Given the description of an element on the screen output the (x, y) to click on. 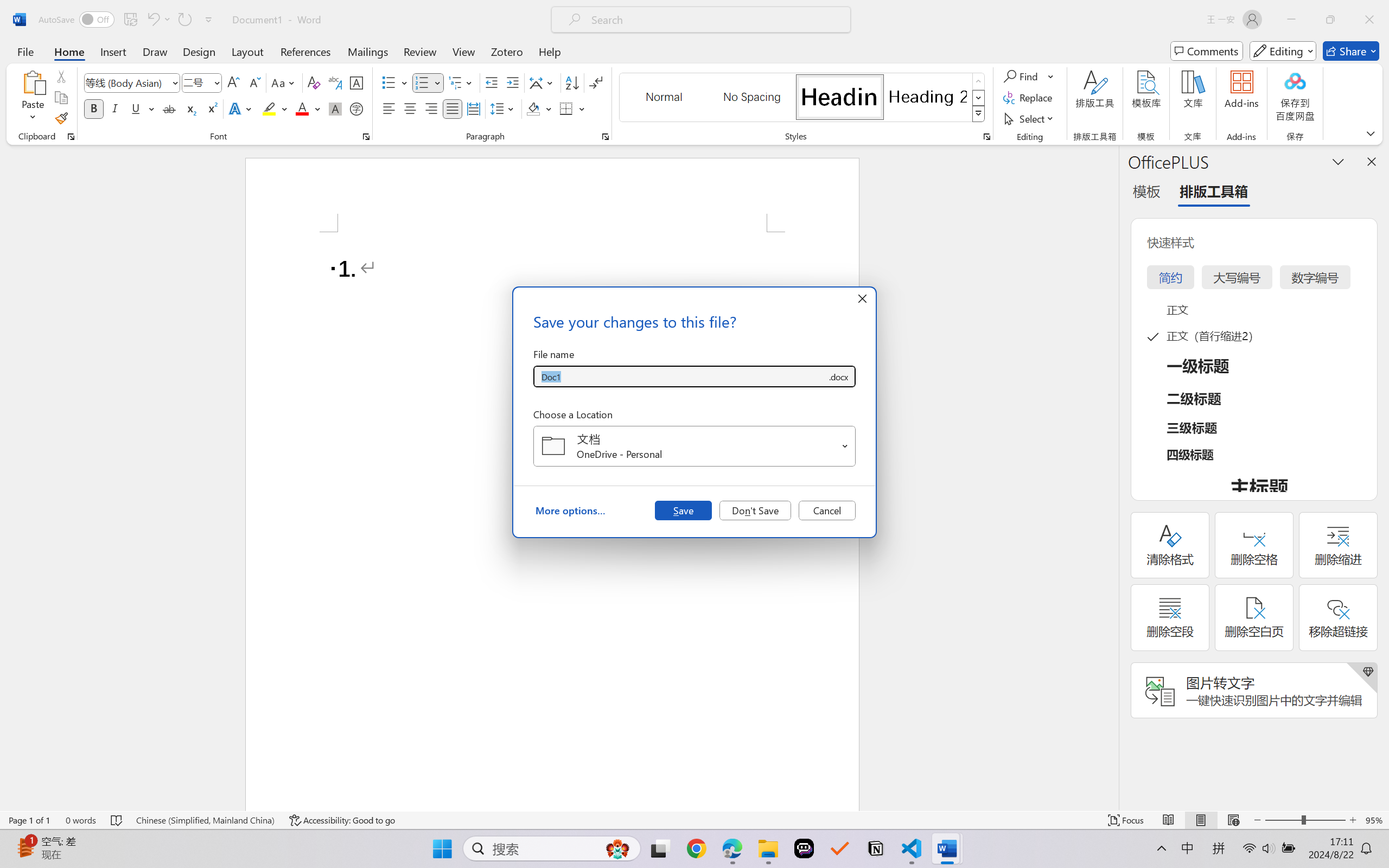
Don't Save (755, 509)
Language Chinese (Simplified, Mainland China) (205, 819)
File name (680, 376)
